Given the description of an element on the screen output the (x, y) to click on. 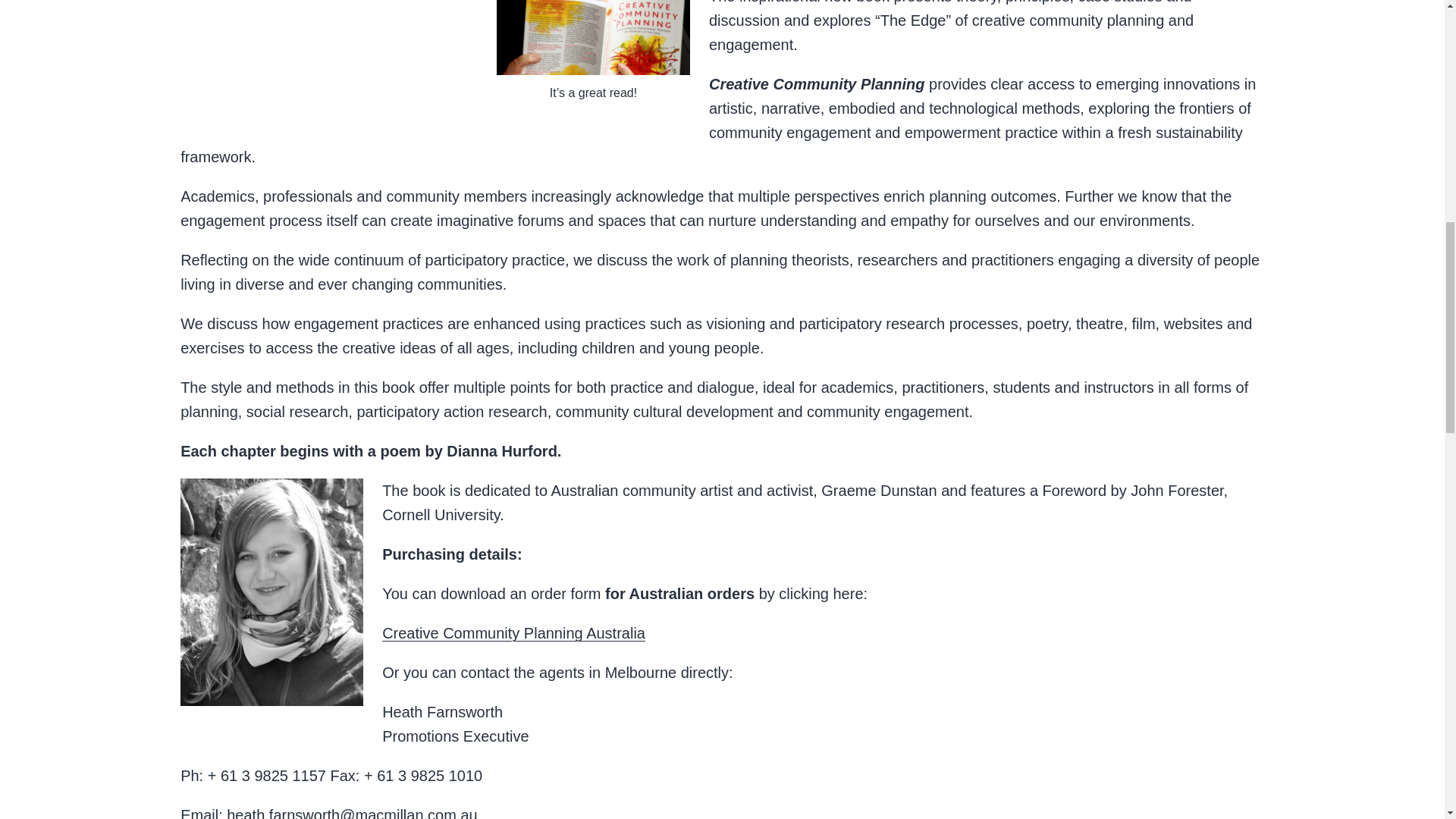
Creative Community Planning Australia (513, 632)
